Given the description of an element on the screen output the (x, y) to click on. 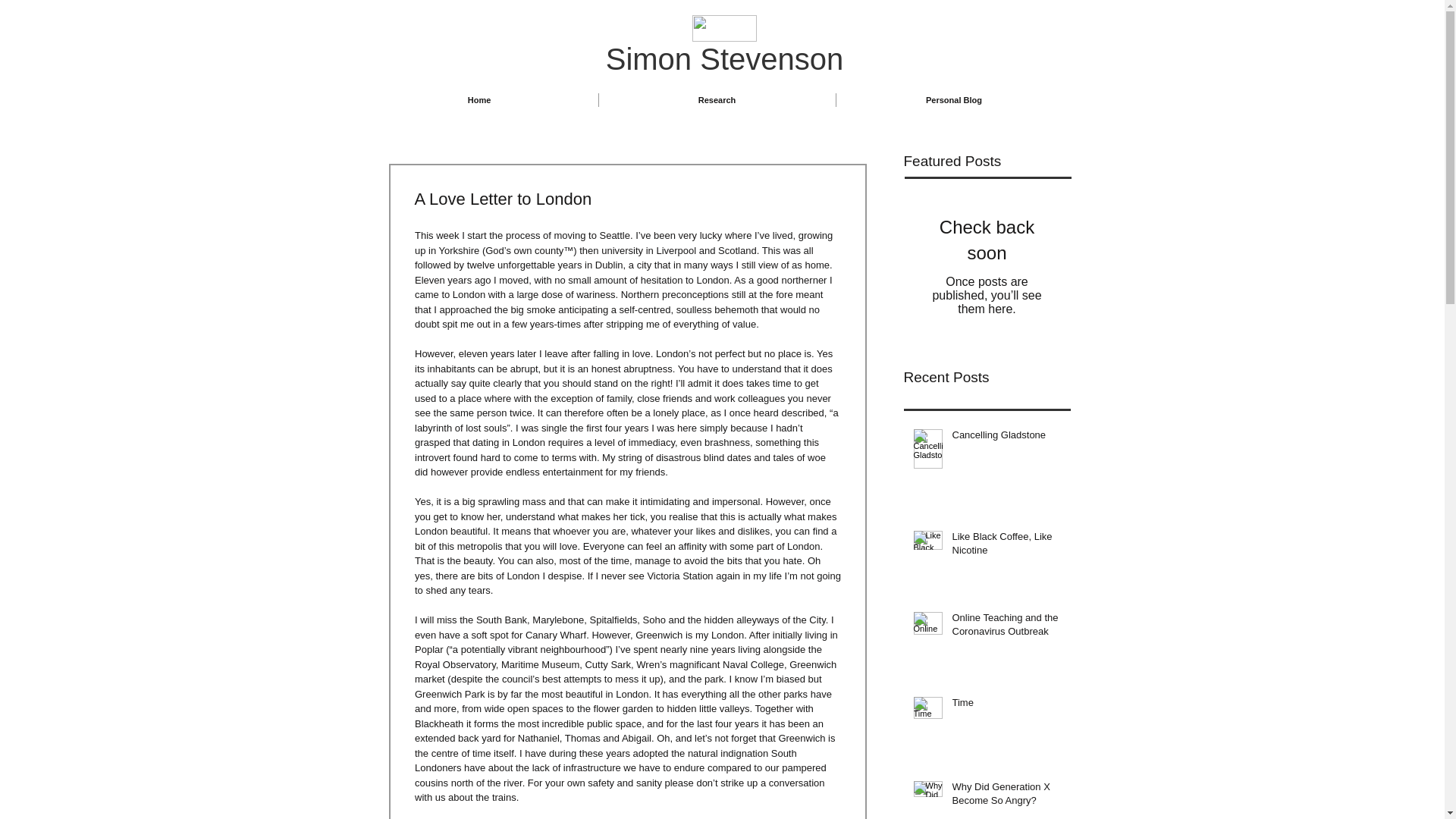
Time (1006, 705)
Home (479, 100)
Online Teaching and the Coronavirus Outbreak (1006, 627)
Personal Blog (953, 100)
Cancelling Gladstone (1006, 437)
Why Did Generation X Become So Angry? (1006, 797)
Like Black Coffee, Like Nicotine (1006, 546)
